Given the description of an element on the screen output the (x, y) to click on. 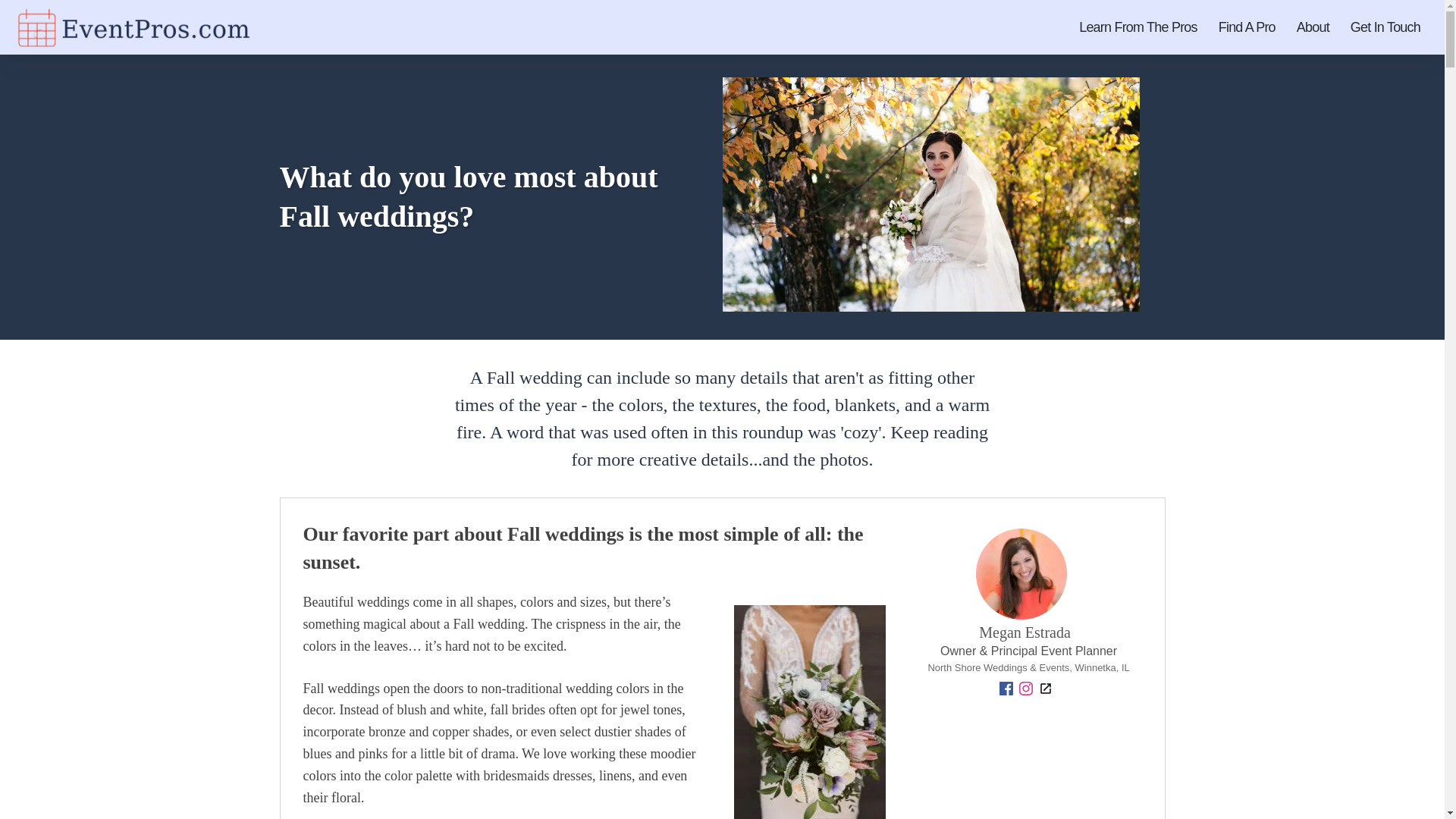
Get In Touch (1385, 27)
Learn From The Pros (1138, 27)
About (1312, 27)
Find A Pro (1246, 27)
